Given the description of an element on the screen output the (x, y) to click on. 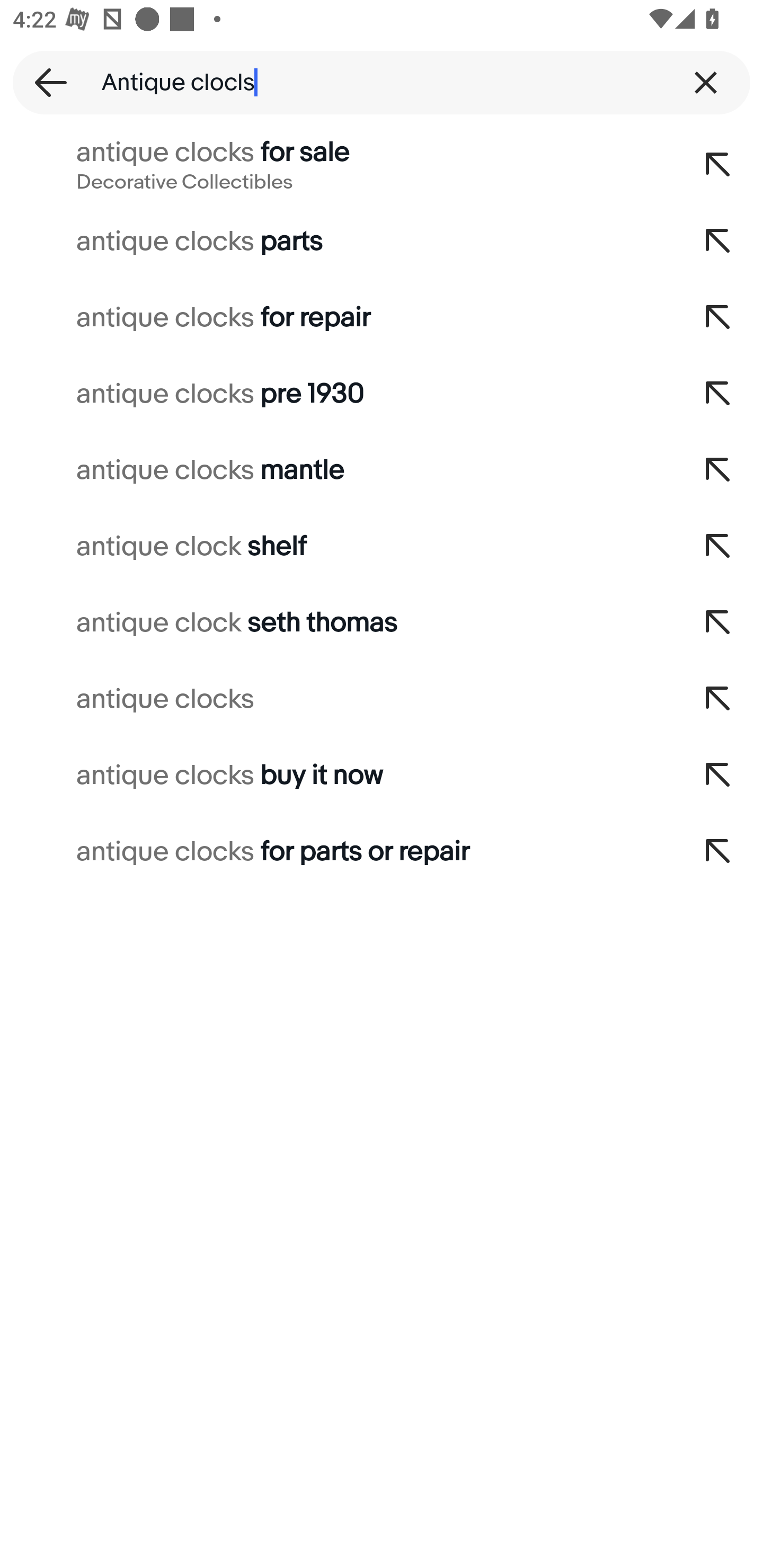
Back (44, 82)
Clear query (705, 82)
Antique clocls (381, 82)
antique clocks for sale
Decorative Collectibles (336, 165)
antique clocks parts (336, 241)
Add to search query,antique clocks parts (718, 241)
antique clocks for repair (336, 317)
Add to search query,antique clocks for repair (718, 317)
antique clocks pre 1930 (336, 393)
Add to search query,antique clocks pre 1930 (718, 393)
antique clocks mantle (336, 470)
Add to search query,antique clocks mantle (718, 470)
antique clock shelf (336, 546)
Add to search query,antique clock shelf (718, 546)
antique clock seth thomas (336, 622)
Add to search query,antique clock seth thomas (718, 622)
antique clocks (336, 698)
Add to search query,antique clocks (718, 698)
antique clocks buy it now (336, 774)
Add to search query,antique clocks buy it now (718, 774)
antique clocks for parts or repair (336, 851)
